Given the description of an element on the screen output the (x, y) to click on. 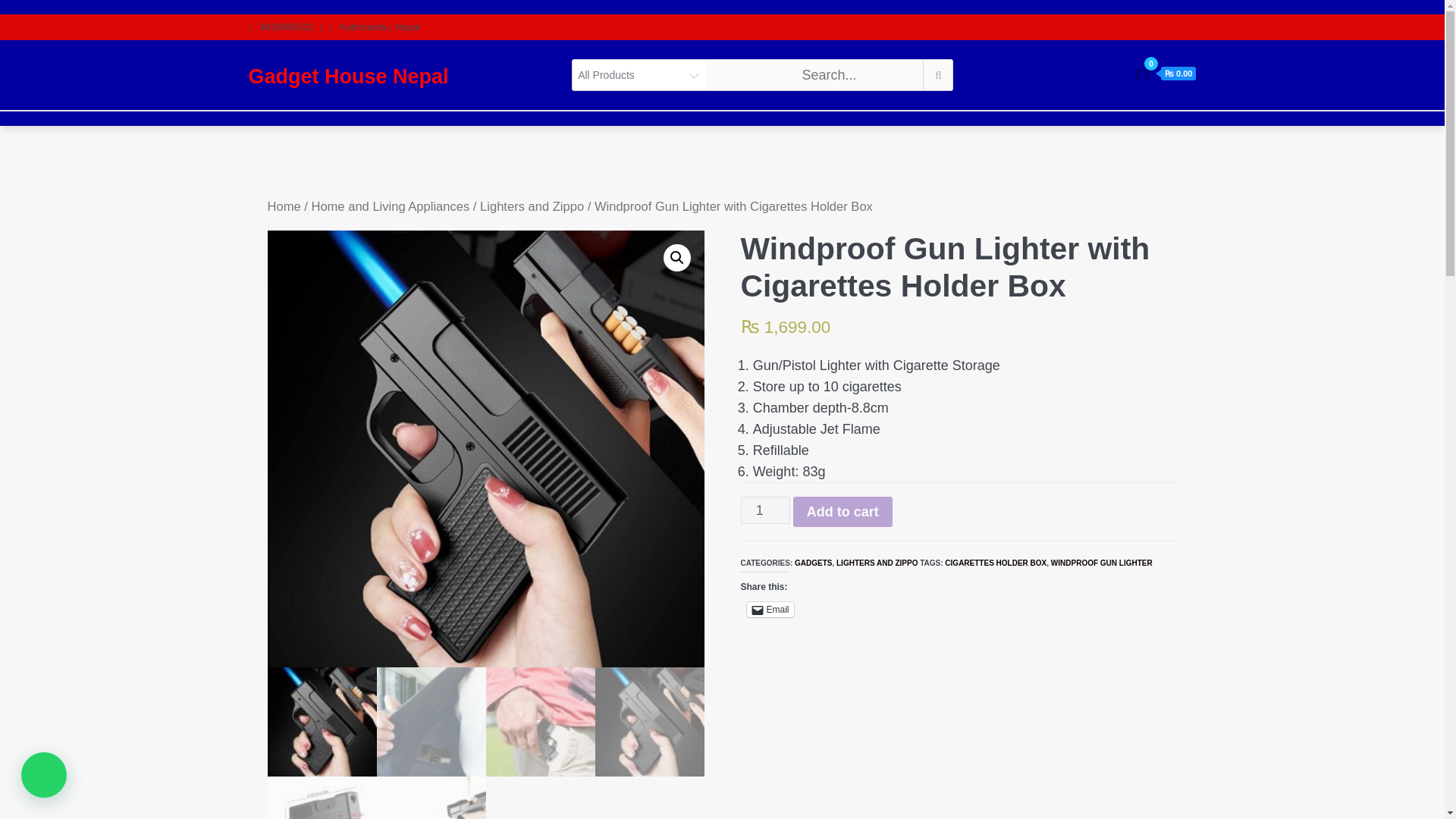
Cart (1169, 73)
CIGARETTES HOLDER BOX (995, 562)
WINDPROOF GUN LIGHTER (1102, 562)
1 (764, 510)
Home and Living Appliances (389, 206)
Email (769, 609)
Gadget House Nepal (348, 76)
LIGHTERS AND ZIPPO (876, 562)
Lighters and Zippo (531, 206)
